Given the description of an element on the screen output the (x, y) to click on. 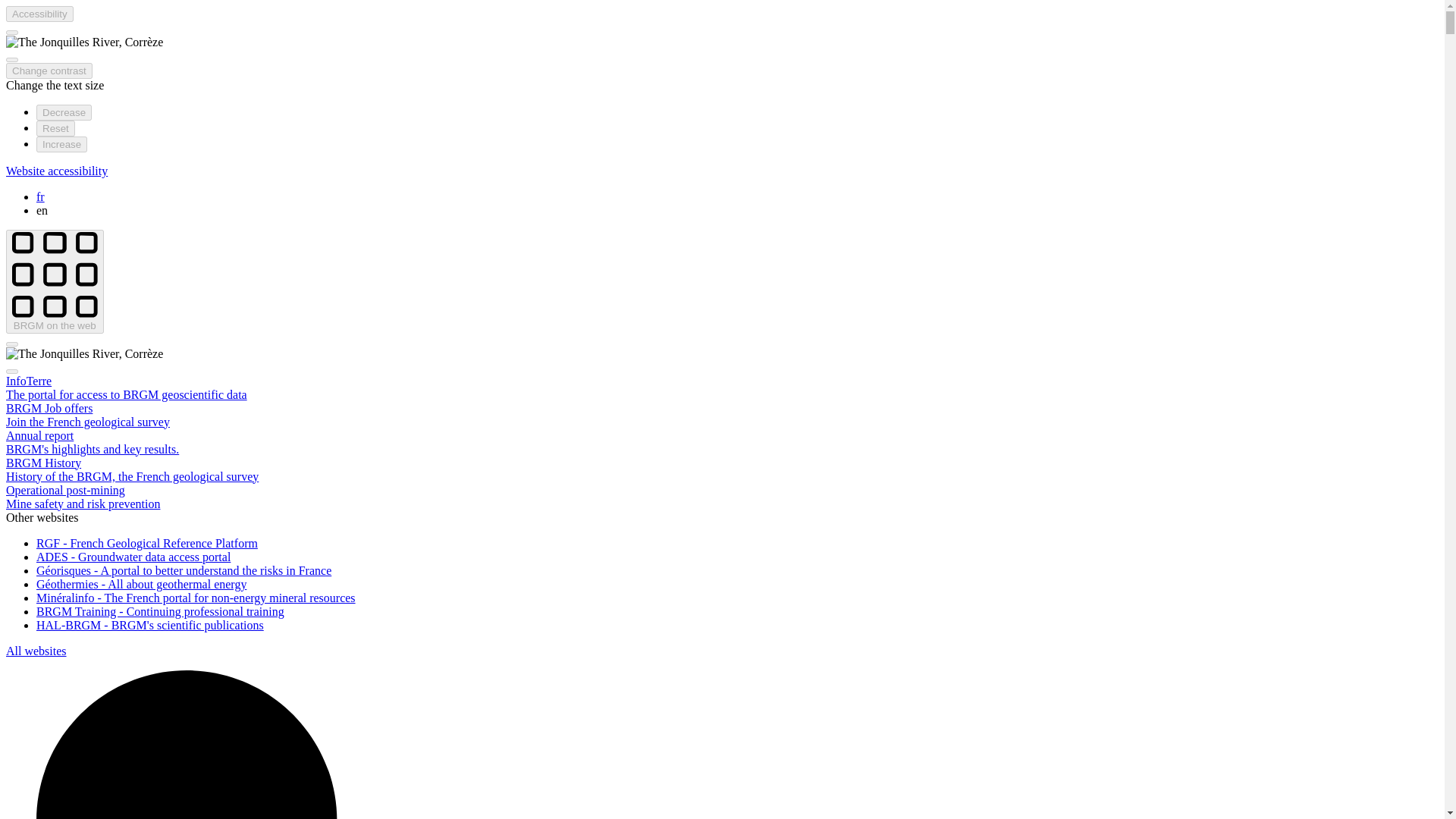
BRGM Training - Continuing professional training (159, 611)
HAL-BRGM - BRGM's scientific publications (149, 625)
Increase (61, 144)
Reset (55, 128)
Decrease (63, 112)
RGF - French Geological Reference Platform (146, 543)
ADES - Groundwater data access portal (133, 556)
All websites (35, 650)
Accessibility (39, 13)
